Given the description of an element on the screen output the (x, y) to click on. 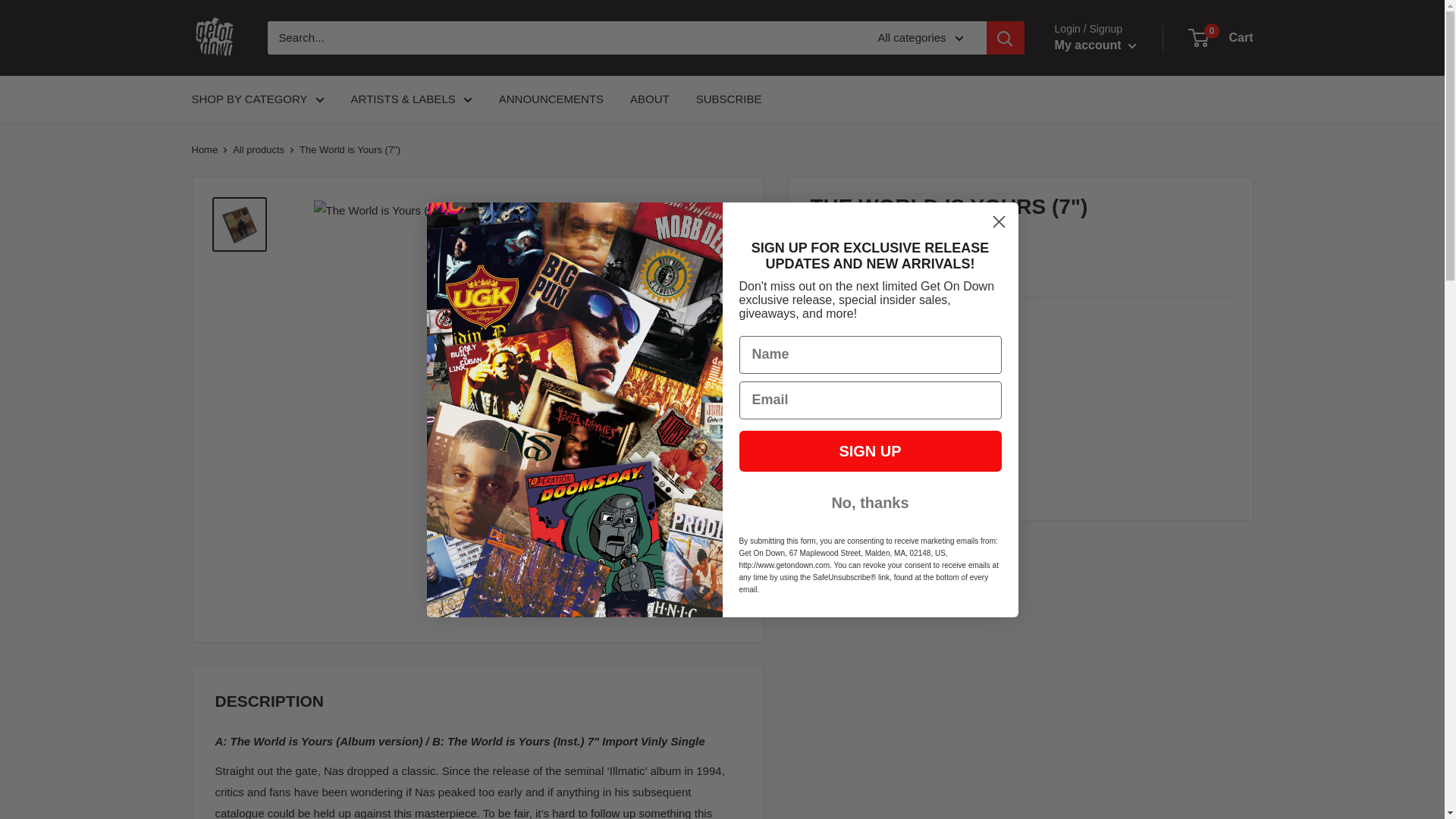
1 (925, 376)
Increase quantity by 1 (965, 376)
Decrease quantity by 1 (885, 376)
